Given the description of an element on the screen output the (x, y) to click on. 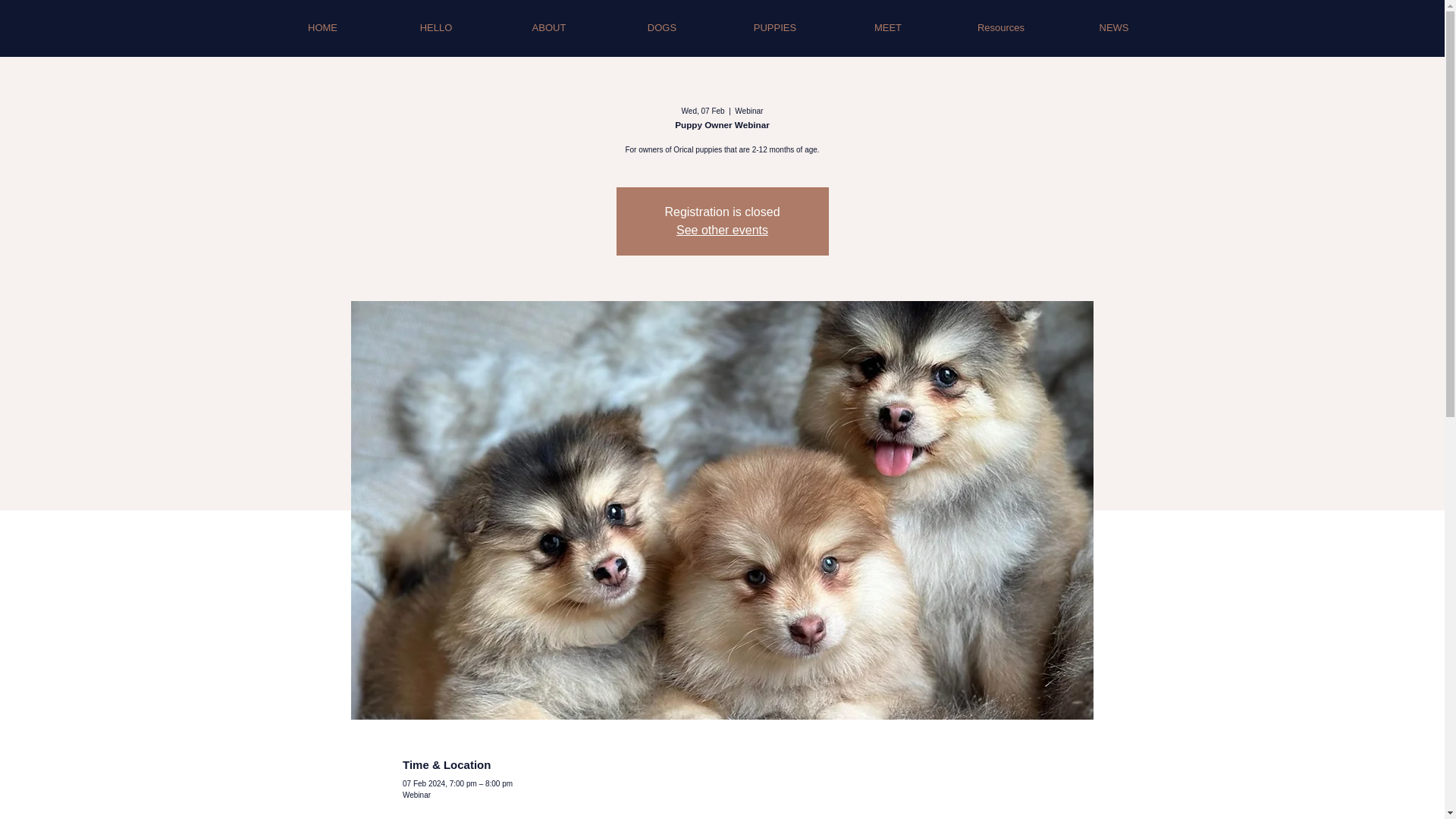
Resources (1001, 27)
HOME (321, 27)
DOGS (661, 27)
See other events (722, 229)
MEET (887, 27)
ABOUT (549, 27)
PUPPIES (775, 27)
HELLO (435, 27)
NEWS (1113, 27)
